Given the description of an element on the screen output the (x, y) to click on. 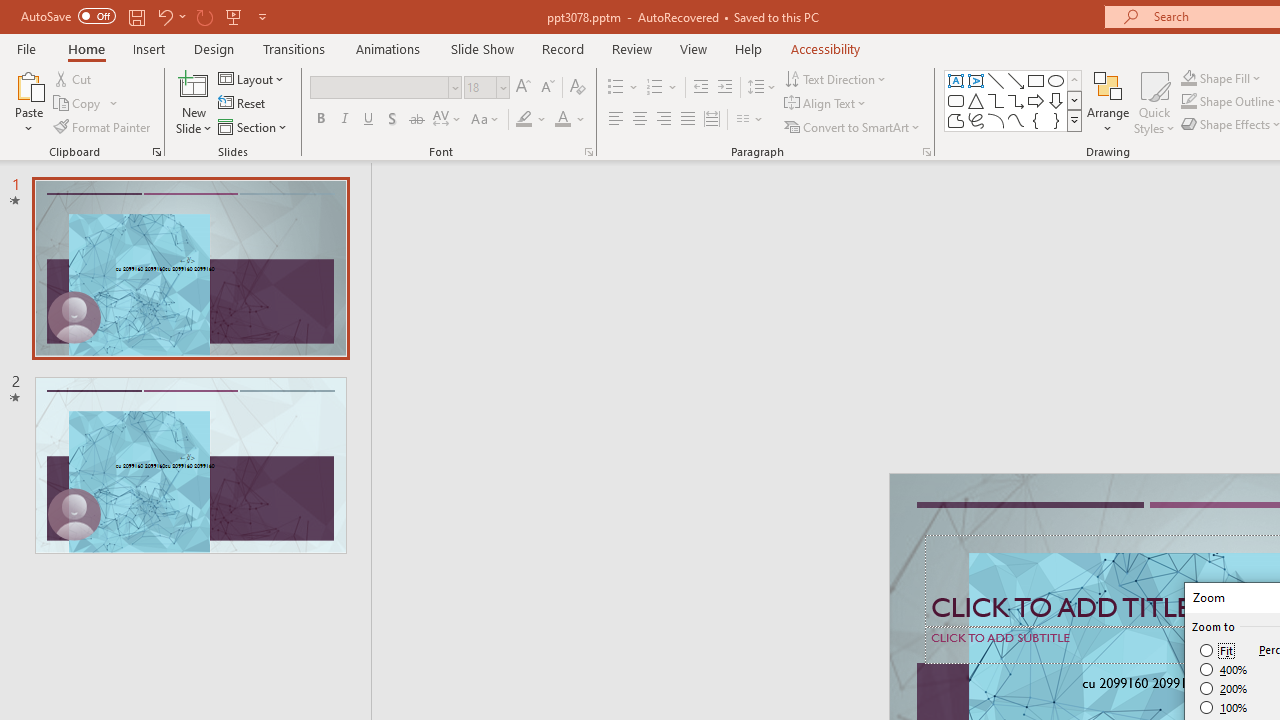
100% (1224, 707)
